Given the description of an element on the screen output the (x, y) to click on. 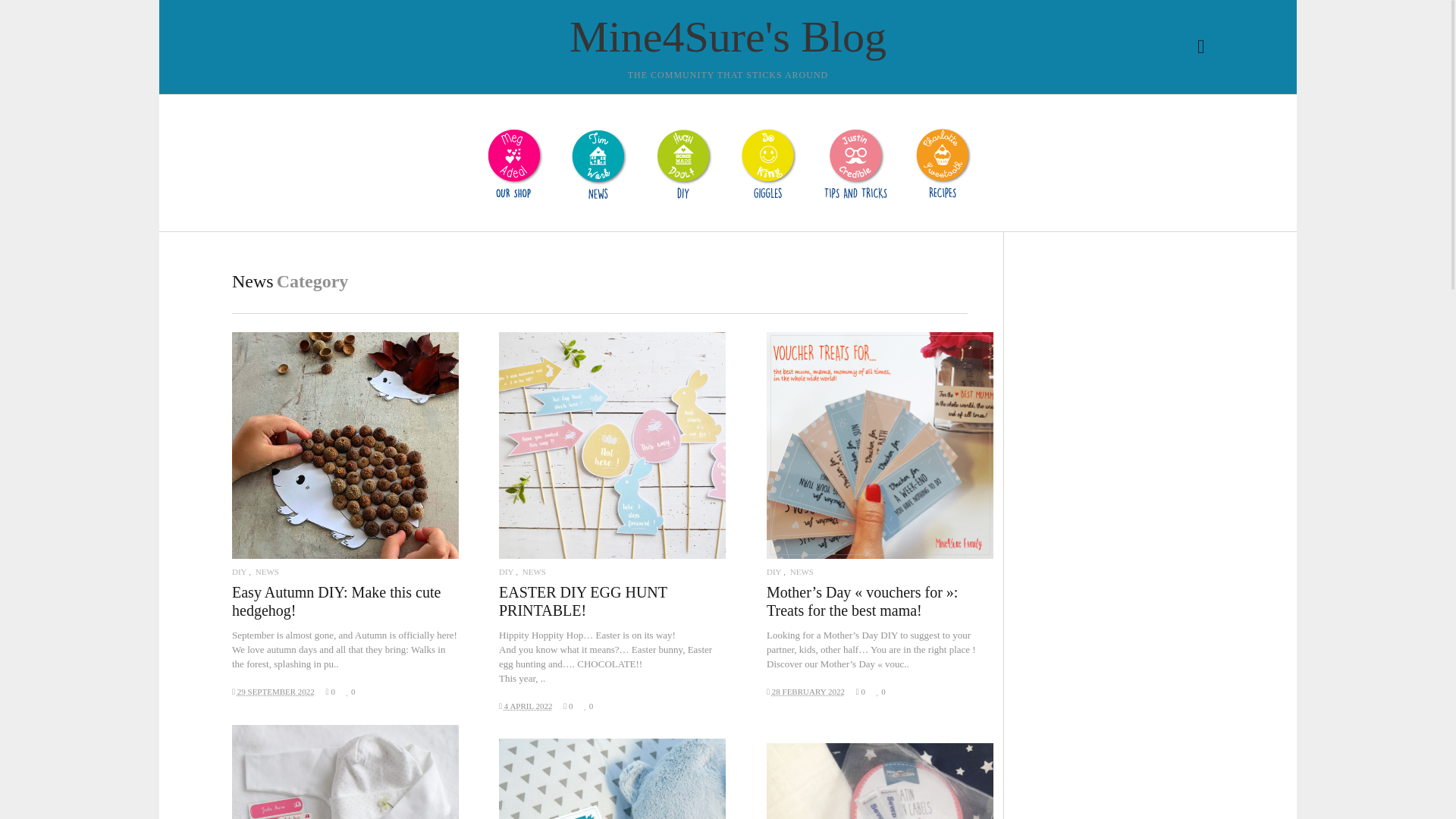
DIY (774, 572)
View all posts in News (534, 572)
DIY (239, 572)
EASTER DIY EGG HUNT PRINTABLE! (612, 445)
View all posts in News (267, 572)
View all posts in DIY (239, 572)
Easy Autumn DIY: Make this cute hedgehog! (344, 445)
Mine4Sure's Blog (727, 36)
View all posts in DIY (774, 572)
NEWS (267, 572)
0 (331, 691)
Babies and children clothes size guide (344, 771)
EASTER DIY EGG HUNT PRINTABLE! (582, 601)
0 (569, 705)
